Given the description of an element on the screen output the (x, y) to click on. 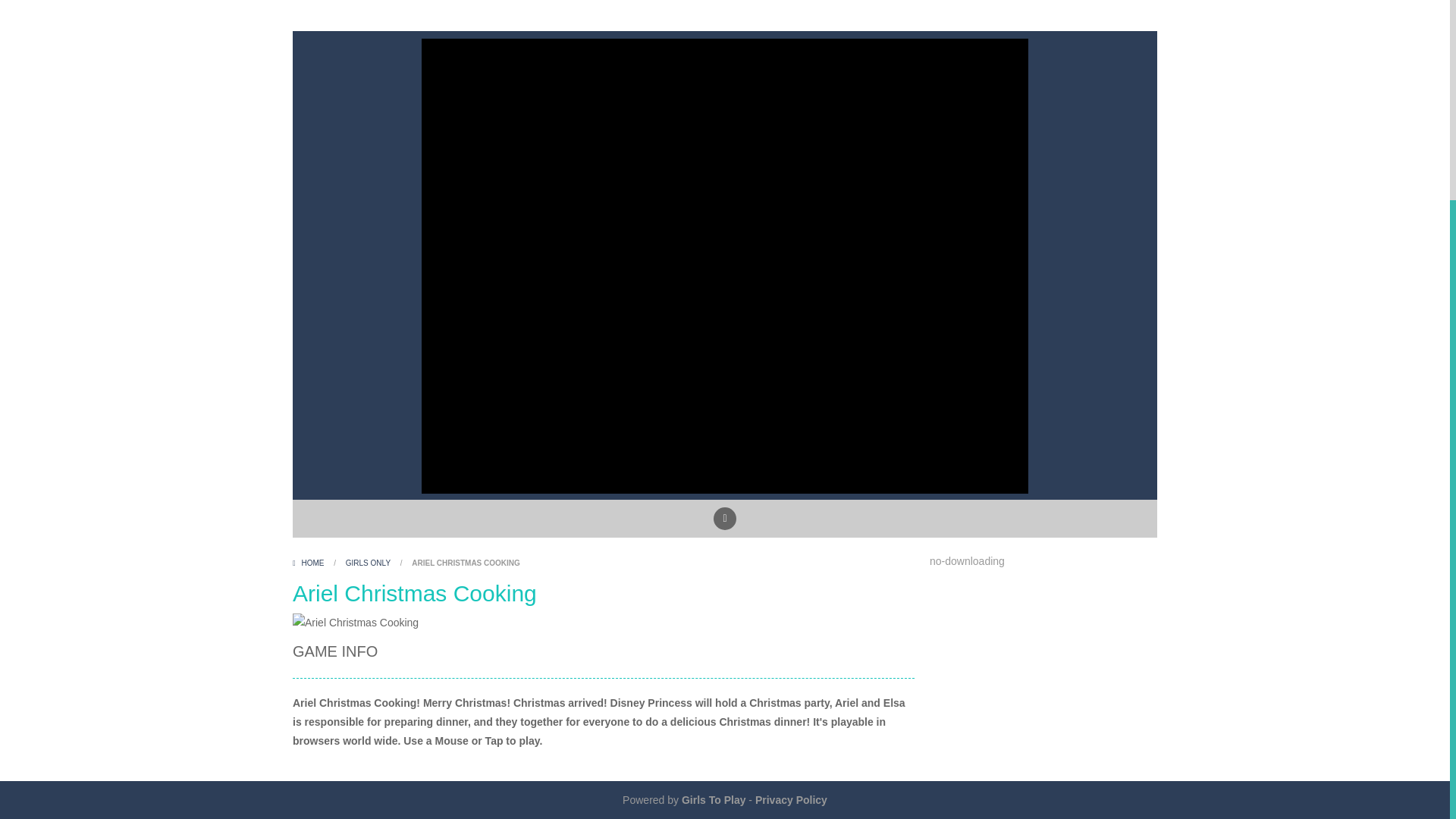
Home (309, 562)
GIRLS ONLY (368, 562)
HOME (309, 562)
Games for (713, 799)
Girls To Play (713, 799)
Play in fullscreen (724, 517)
Privacy Policy (791, 799)
